Given the description of an element on the screen output the (x, y) to click on. 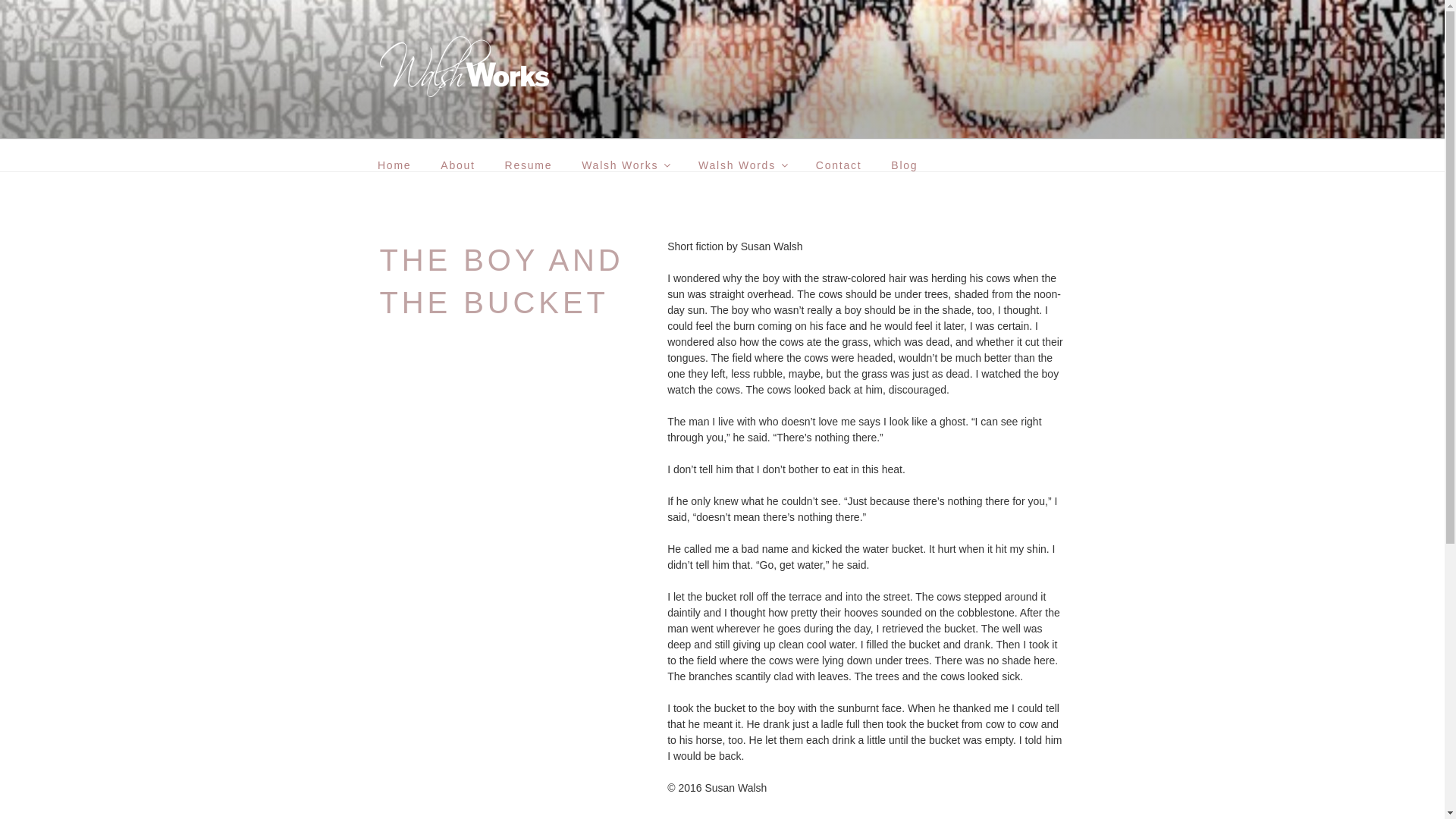
Walsh Words (742, 164)
WALSHWORKS (491, 119)
Home (393, 164)
Resume (529, 164)
Walsh Works (625, 164)
About (457, 164)
